Given the description of an element on the screen output the (x, y) to click on. 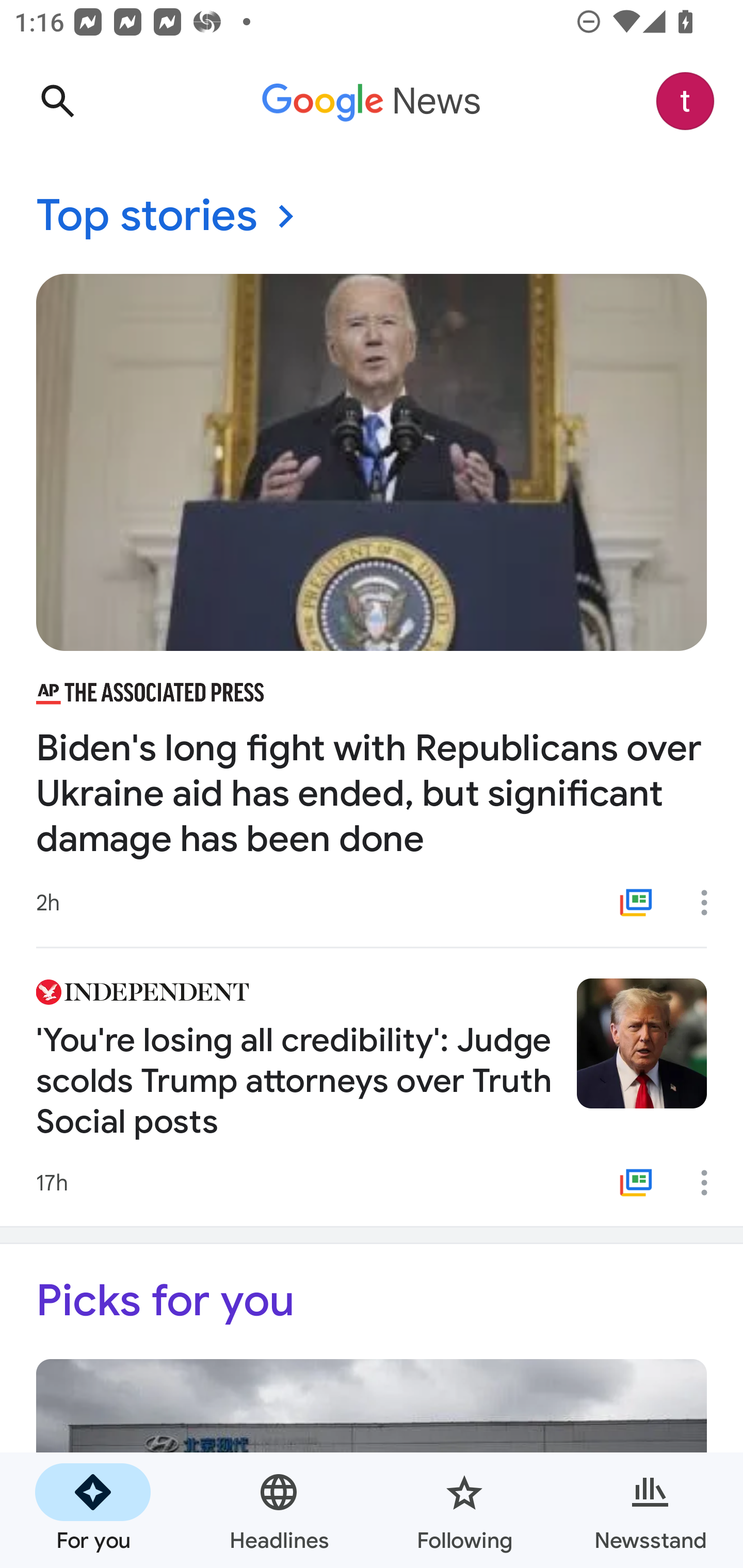
Search (57, 100)
Top stories (371, 216)
More options (711, 902)
More options (711, 1182)
For you (92, 1509)
Headlines (278, 1509)
Following (464, 1509)
Newsstand (650, 1509)
